Given the description of an element on the screen output the (x, y) to click on. 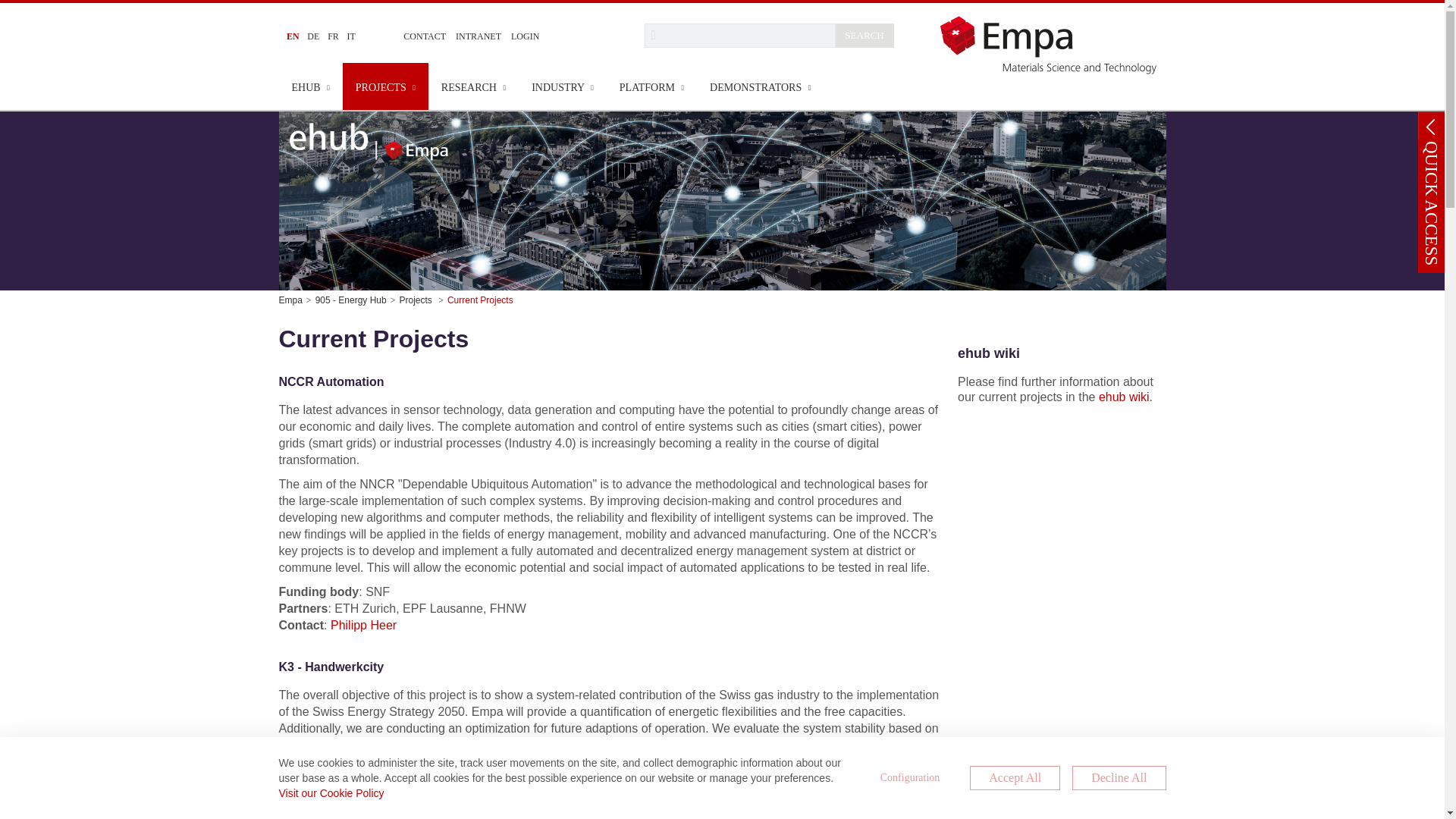
Skip to Main Content (5, 5)
Search (740, 35)
Philipp Heer (363, 625)
Go to Empa (1052, 44)
